Given the description of an element on the screen output the (x, y) to click on. 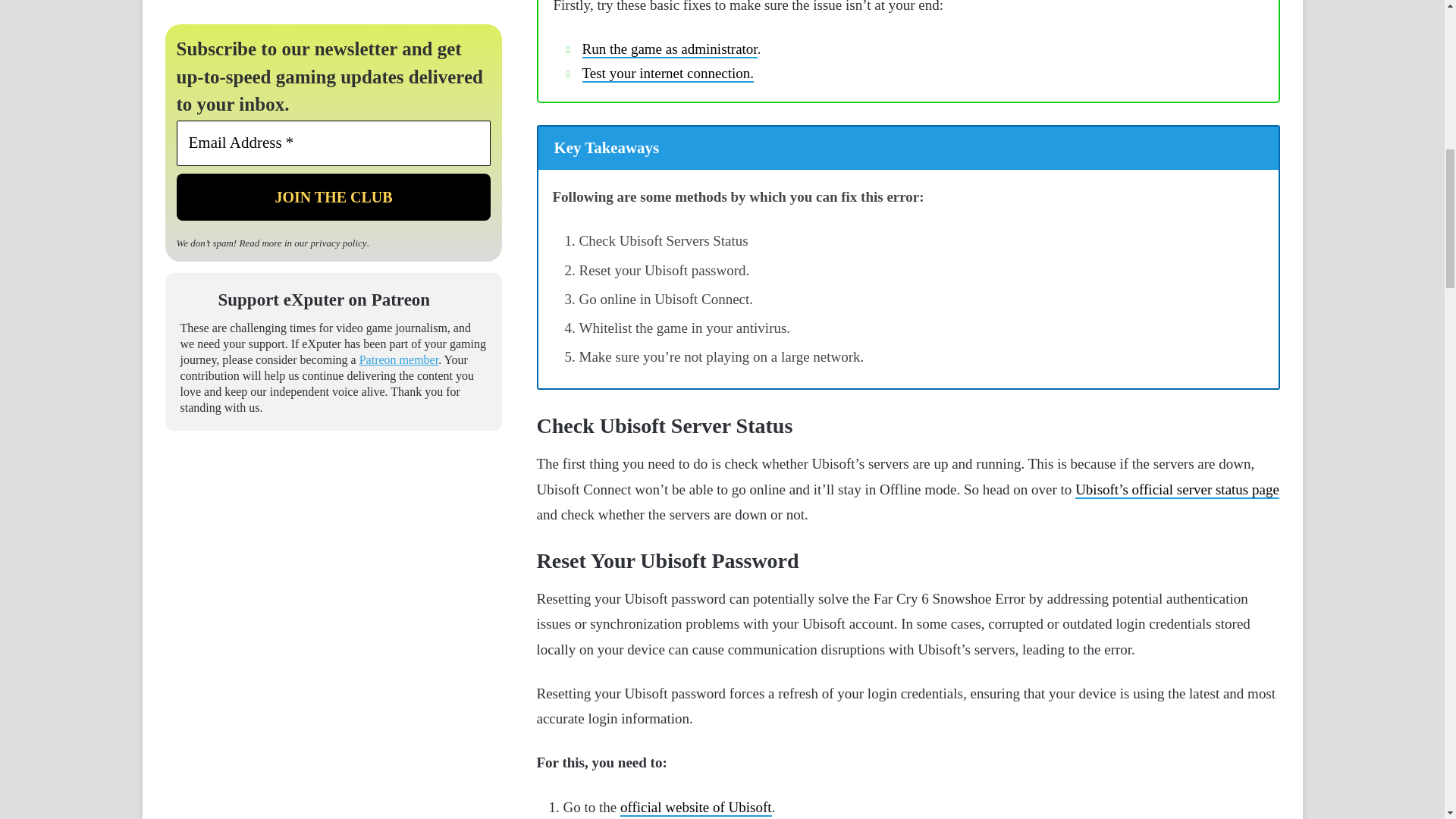
JOIN THE  CLUB (333, 196)
Email Address (333, 143)
